Given the description of an element on the screen output the (x, y) to click on. 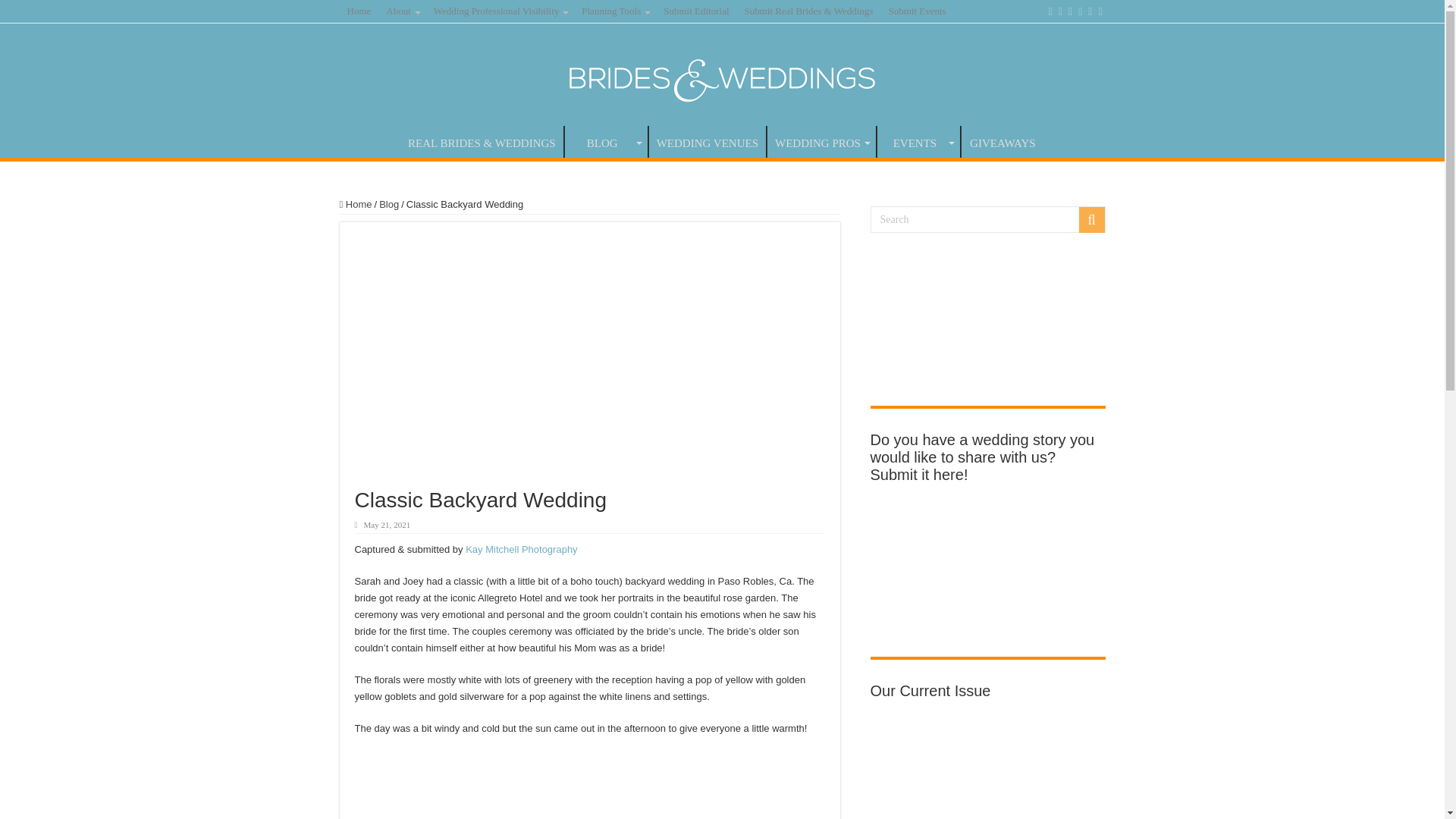
Planning Tools (614, 11)
About (402, 11)
BLOG (605, 142)
Submit Events (916, 11)
Home (358, 11)
Wedding Professional Visibility (499, 11)
Search (987, 219)
Submit Editorial (696, 11)
